Given the description of an element on the screen output the (x, y) to click on. 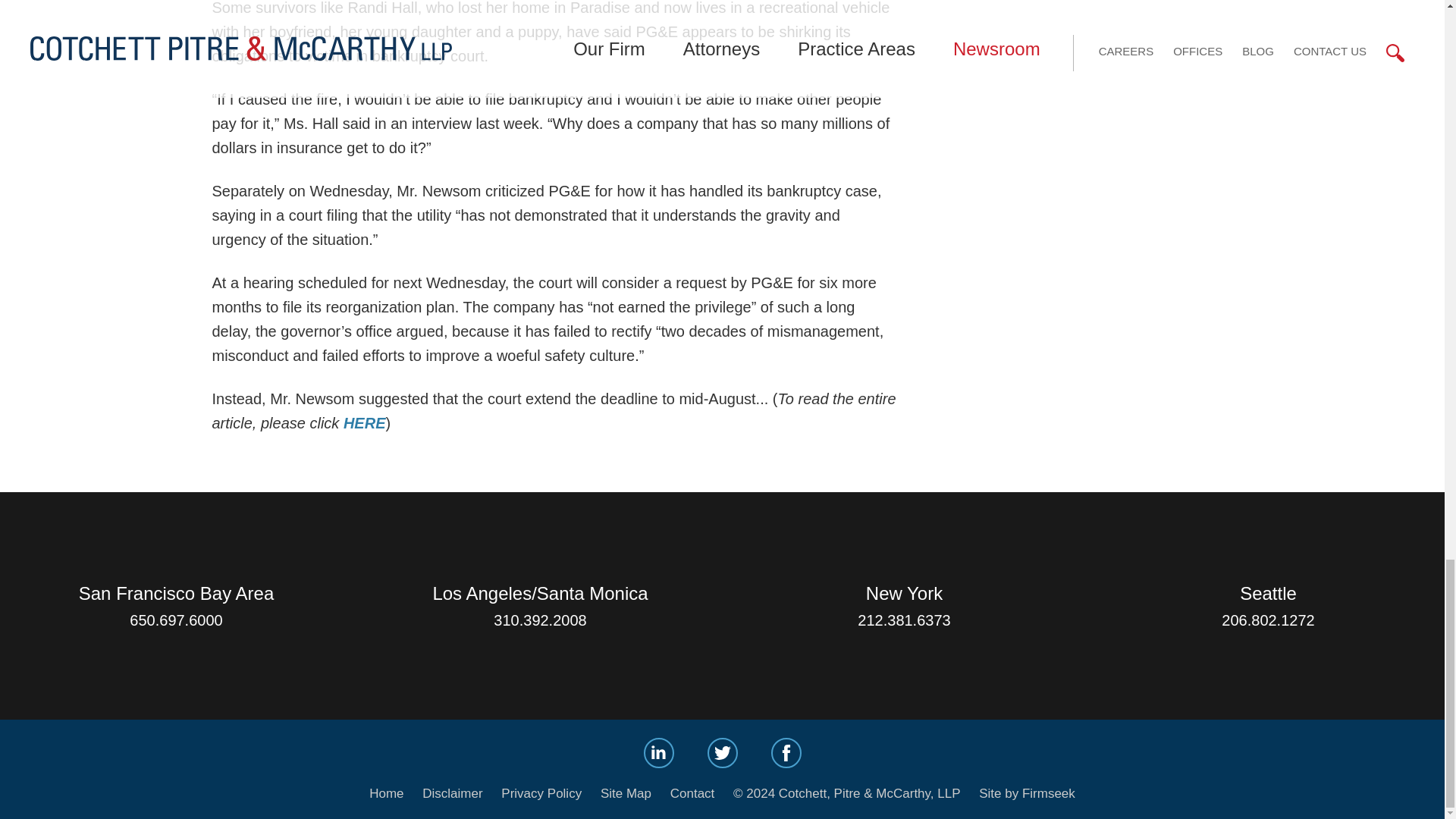
Twitter (721, 752)
Facebook (785, 752)
LinkedIn (657, 752)
